Given the description of an element on the screen output the (x, y) to click on. 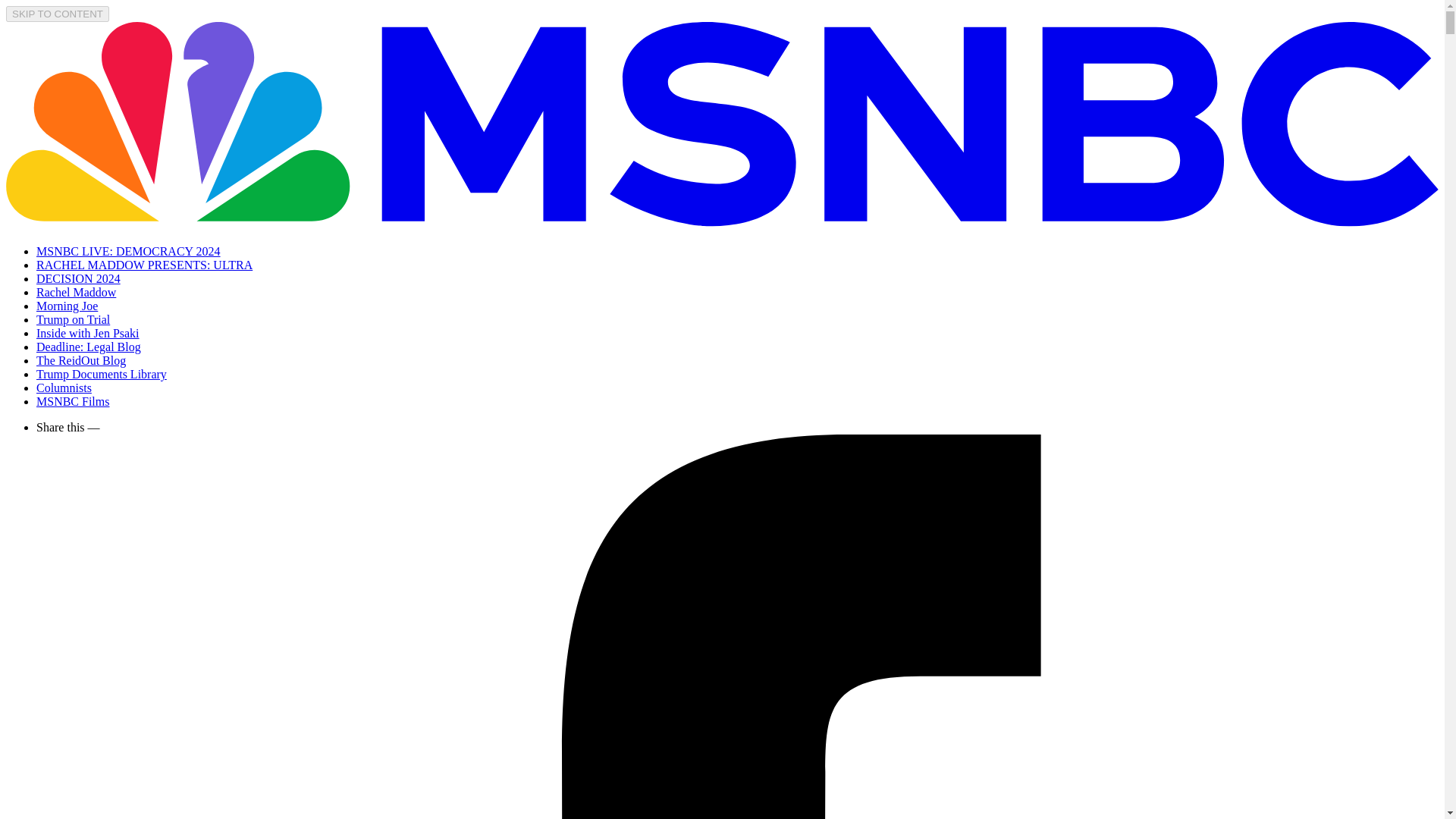
Trump on Trial (73, 318)
The ReidOut Blog (80, 359)
Trump Documents Library (101, 373)
Morning Joe (66, 305)
MSNBC Films (72, 400)
MSNBC LIVE: DEMOCRACY 2024 (128, 250)
Rachel Maddow (76, 291)
Columnists (63, 387)
DECISION 2024 (78, 278)
Deadline: Legal Blog (88, 346)
Inside with Jen Psaki (87, 332)
SKIP TO CONTENT (57, 13)
RACHEL MADDOW PRESENTS: ULTRA (143, 264)
